Given the description of an element on the screen output the (x, y) to click on. 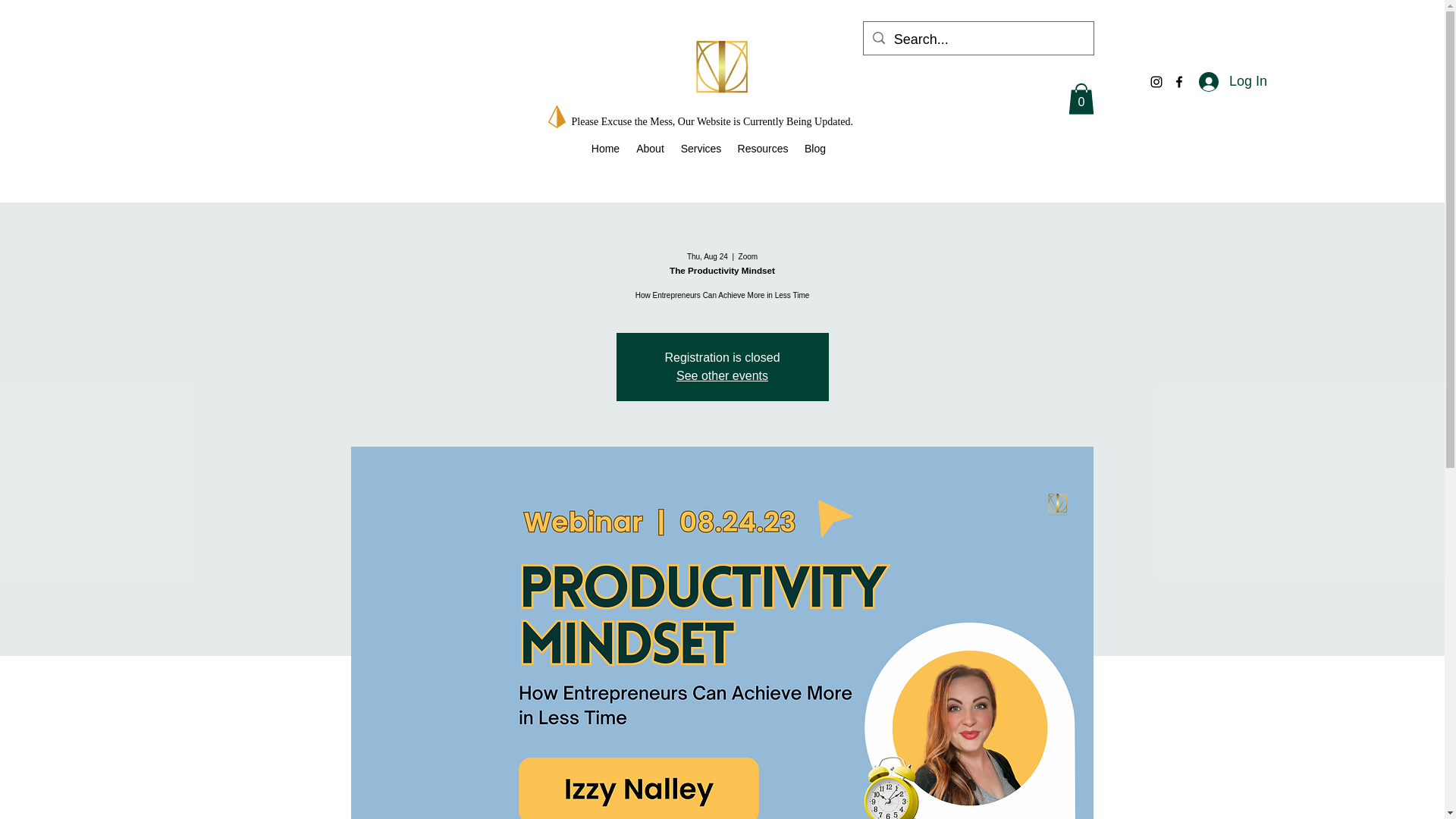
See other events (722, 375)
Blog (815, 148)
About (649, 148)
Services (700, 148)
Home (605, 148)
Resources (762, 148)
Log In (1233, 81)
